Given the description of an element on the screen output the (x, y) to click on. 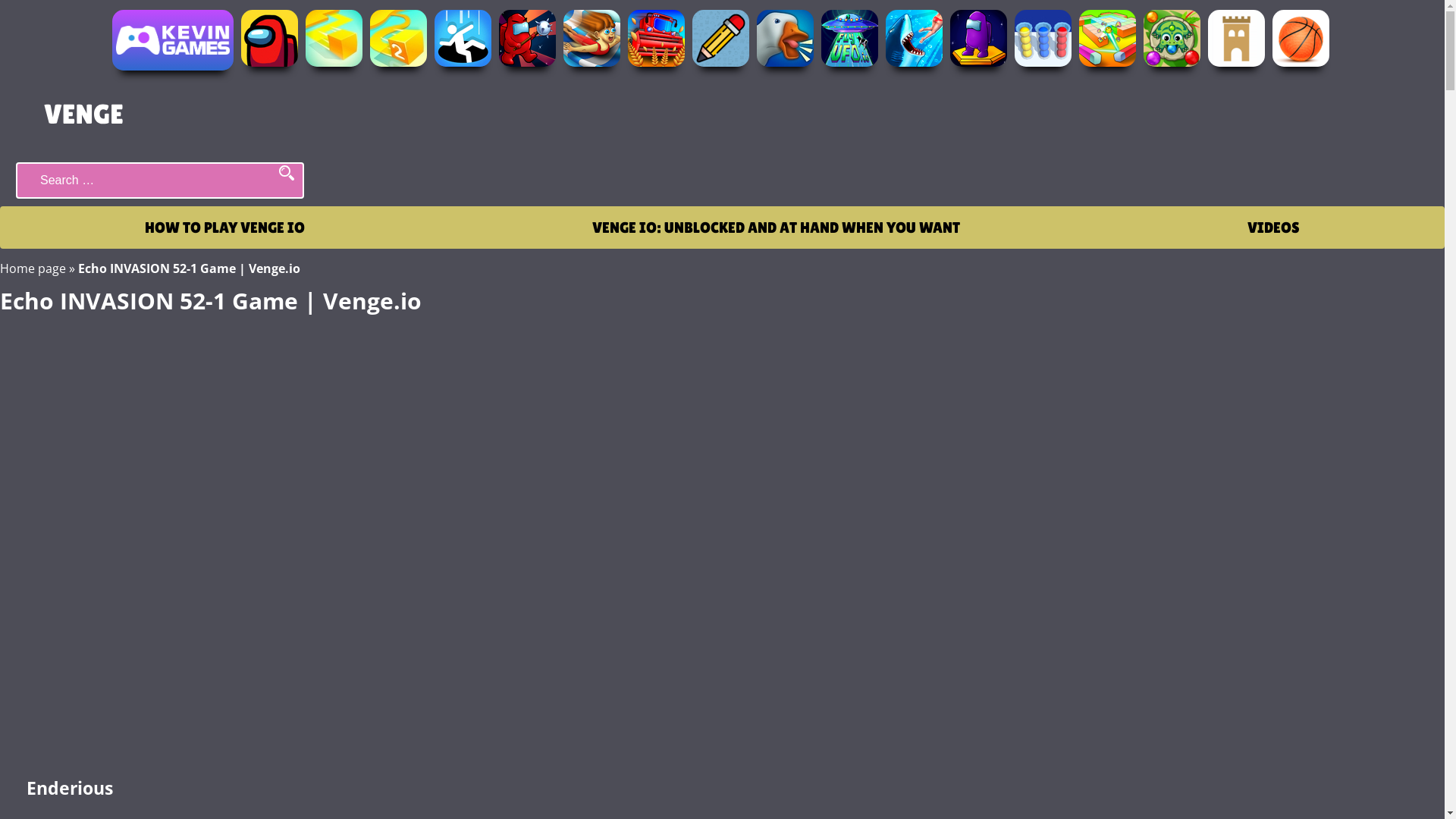
HOW TO PLAY VENGE IO Element type: text (224, 227)
VENGE IO: UNBLOCKED AND AT HAND WHEN YOU WANT Element type: text (775, 227)
VIDEOS Element type: text (1273, 227)
Echo INVASION 52-1 Game | Venge.io Element type: hover (722, 536)
Home page Element type: text (32, 268)
Game link1330 Element type: hover (722, 43)
